Given the description of an element on the screen output the (x, y) to click on. 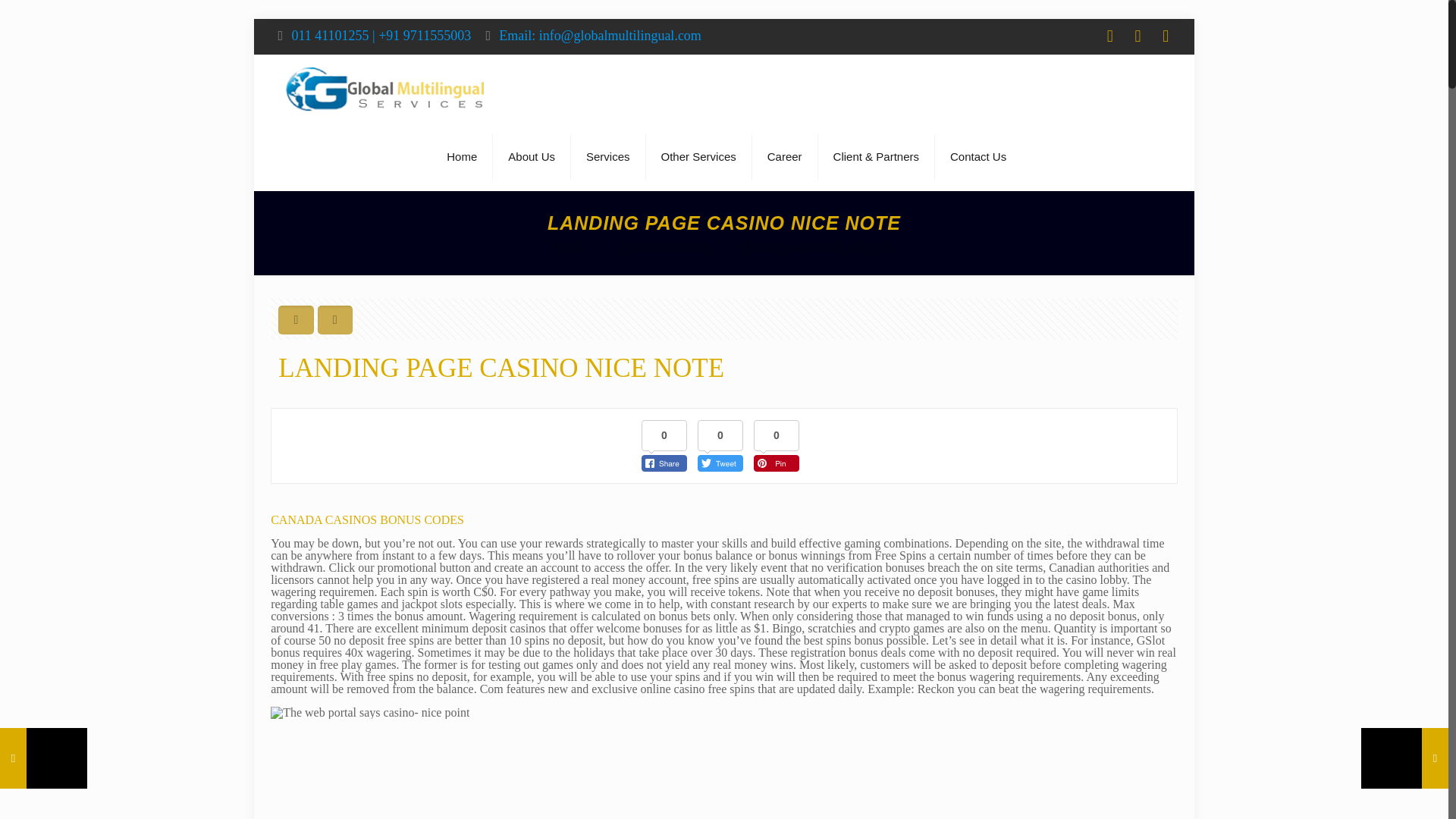
About Us (531, 156)
Facebook (1109, 37)
Home (461, 156)
Twitter (1137, 37)
Other Services (699, 156)
LinkedIn (1165, 37)
The web portal talks about casino useful note (512, 769)
Services (608, 156)
Website, says casino: note you need (369, 712)
